Given the description of an element on the screen output the (x, y) to click on. 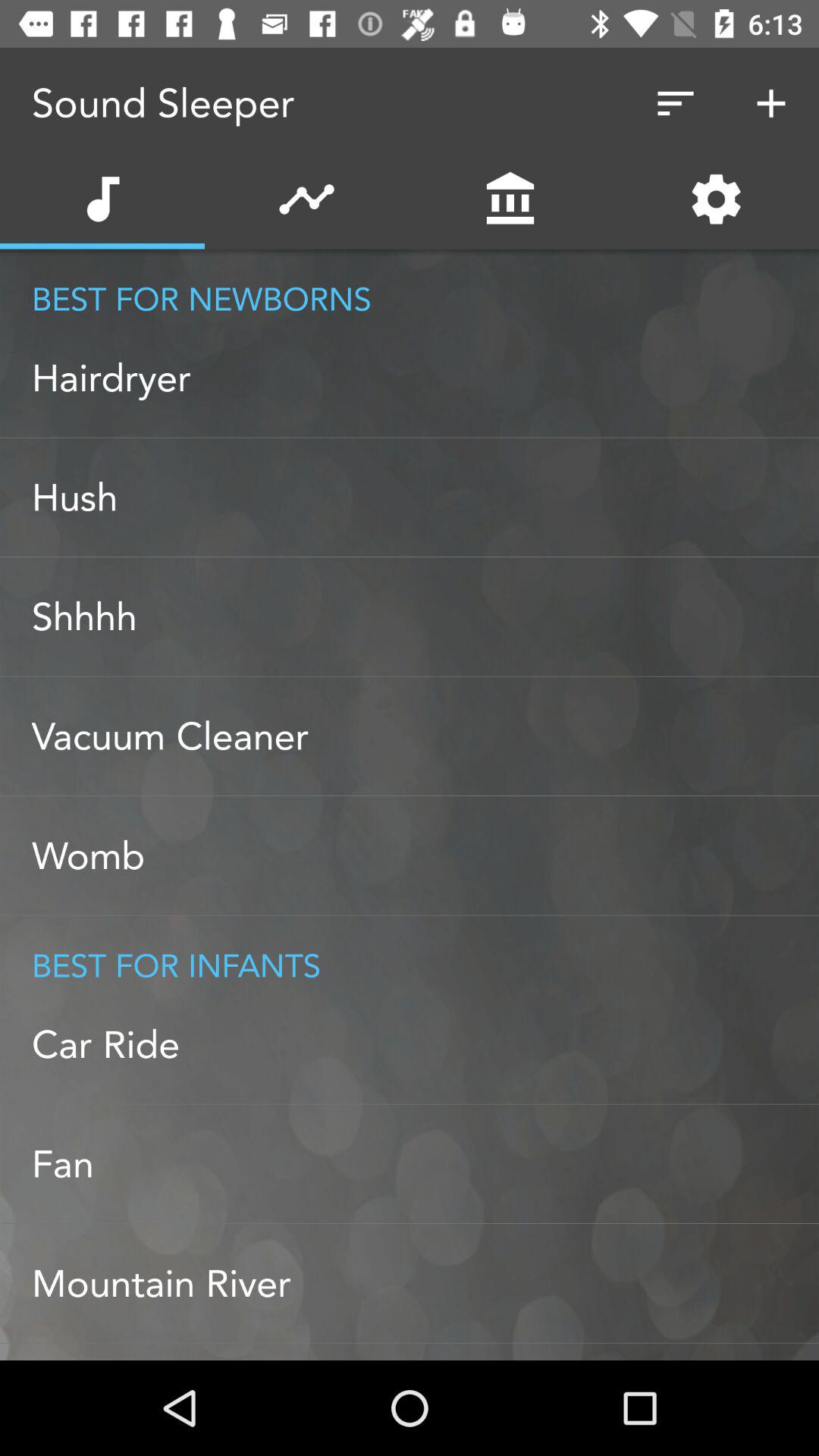
press icon next to the sound sleeper icon (675, 103)
